Given the description of an element on the screen output the (x, y) to click on. 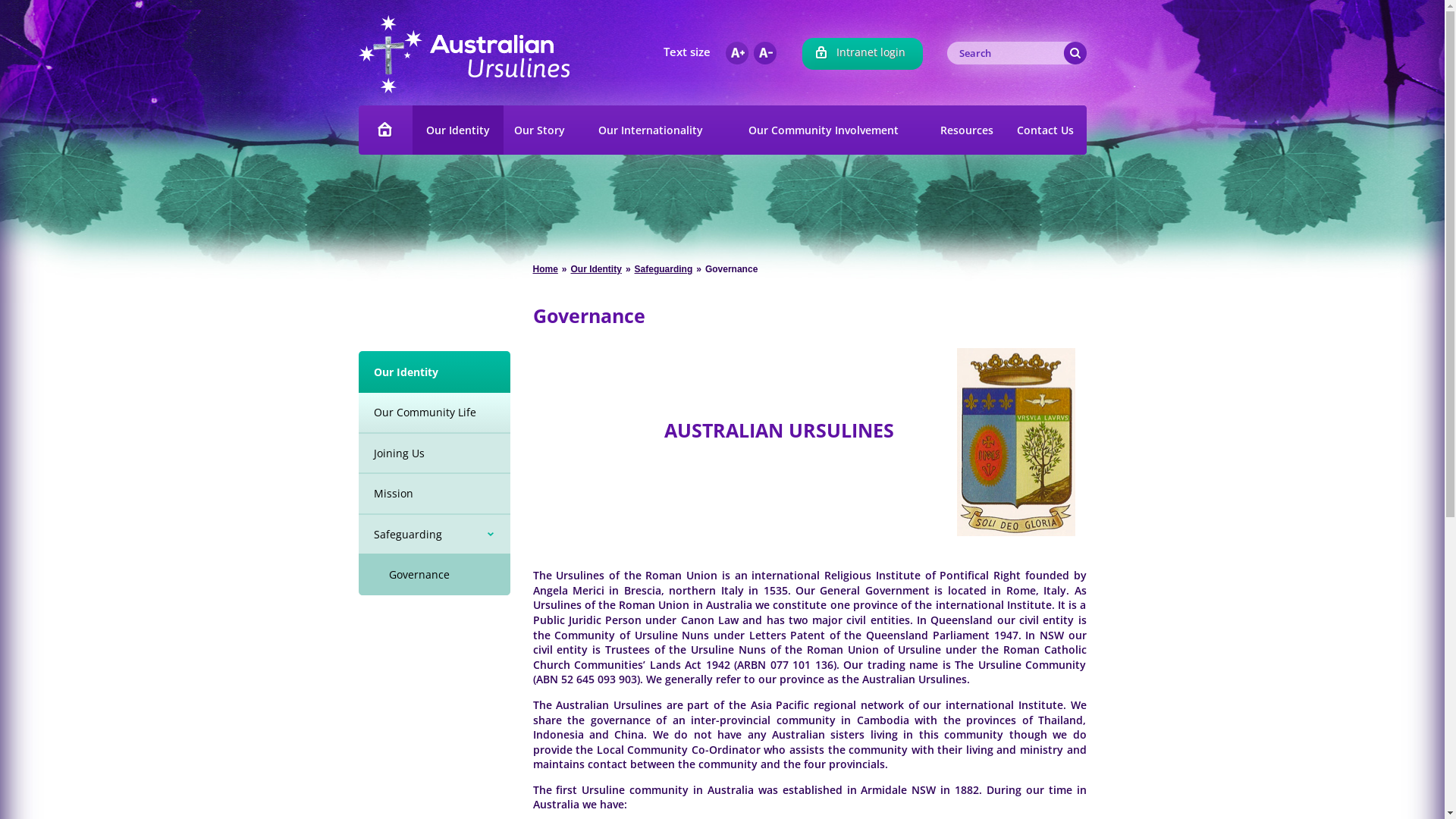
Home Element type: text (384, 129)
Mission Element type: text (433, 492)
Joining Us Element type: text (433, 452)
Contact Us Element type: text (1044, 129)
Governance Element type: text (433, 574)
Our Identity Element type: text (596, 268)
Our Community Involvement Element type: text (827, 129)
Resources Element type: text (966, 129)
Search Element type: text (1074, 52)
Our Internationality Element type: text (650, 129)
Our Community Life Element type: text (433, 412)
Safeguarding Element type: text (663, 268)
Intranet login Element type: text (862, 53)
Our Identity Element type: text (433, 371)
Safeguarding Element type: text (433, 533)
Home Element type: text (544, 268)
Our Identity Element type: text (457, 129)
Our Story Element type: text (539, 129)
